Given the description of an element on the screen output the (x, y) to click on. 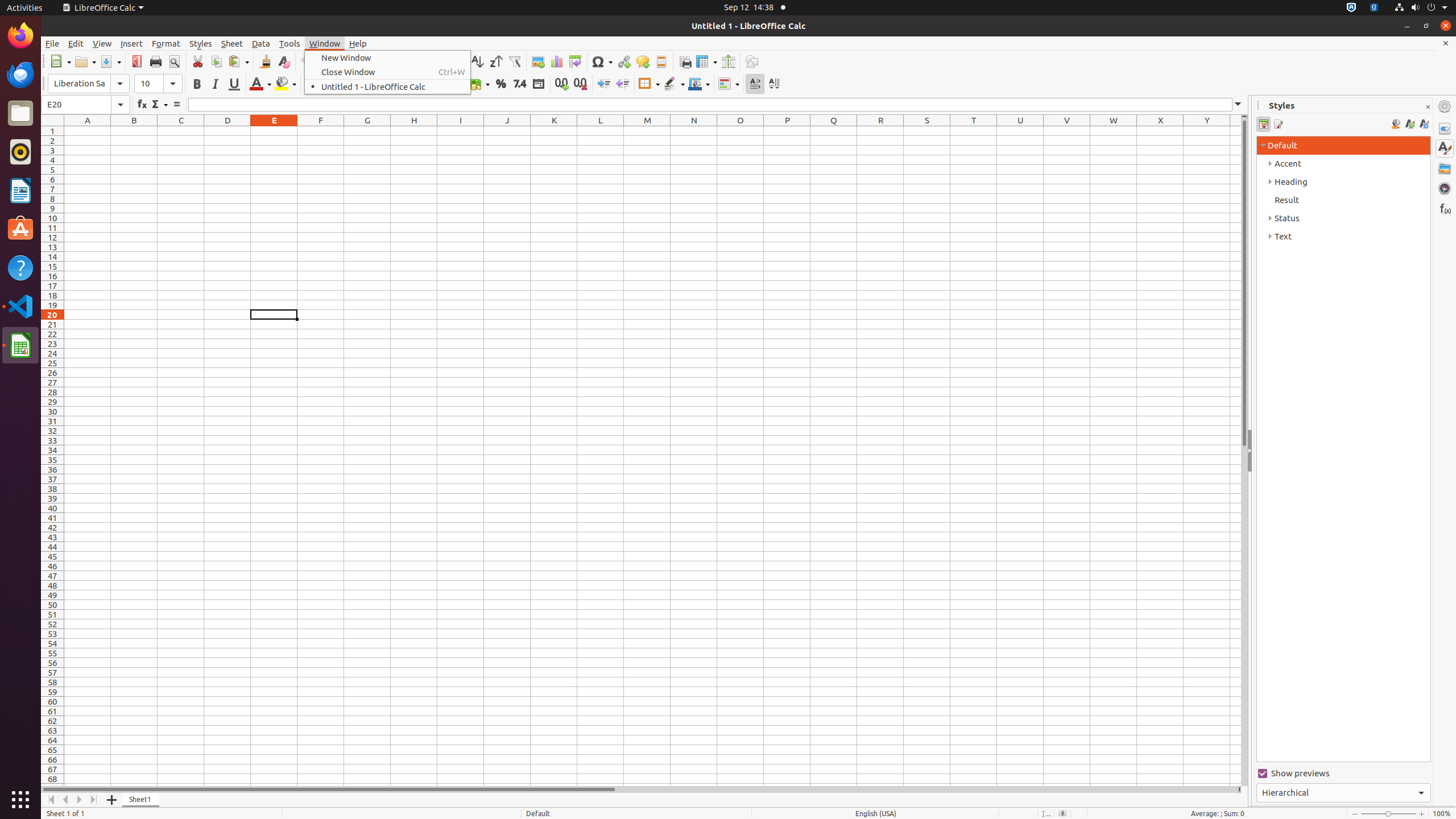
AutoFilter Element type: push-button (514, 61)
Properties Element type: radio-button (1444, 128)
Bold Element type: toggle-button (196, 83)
Draw Functions Element type: toggle-button (751, 61)
Paste Element type: push-button (237, 61)
